Given the description of an element on the screen output the (x, y) to click on. 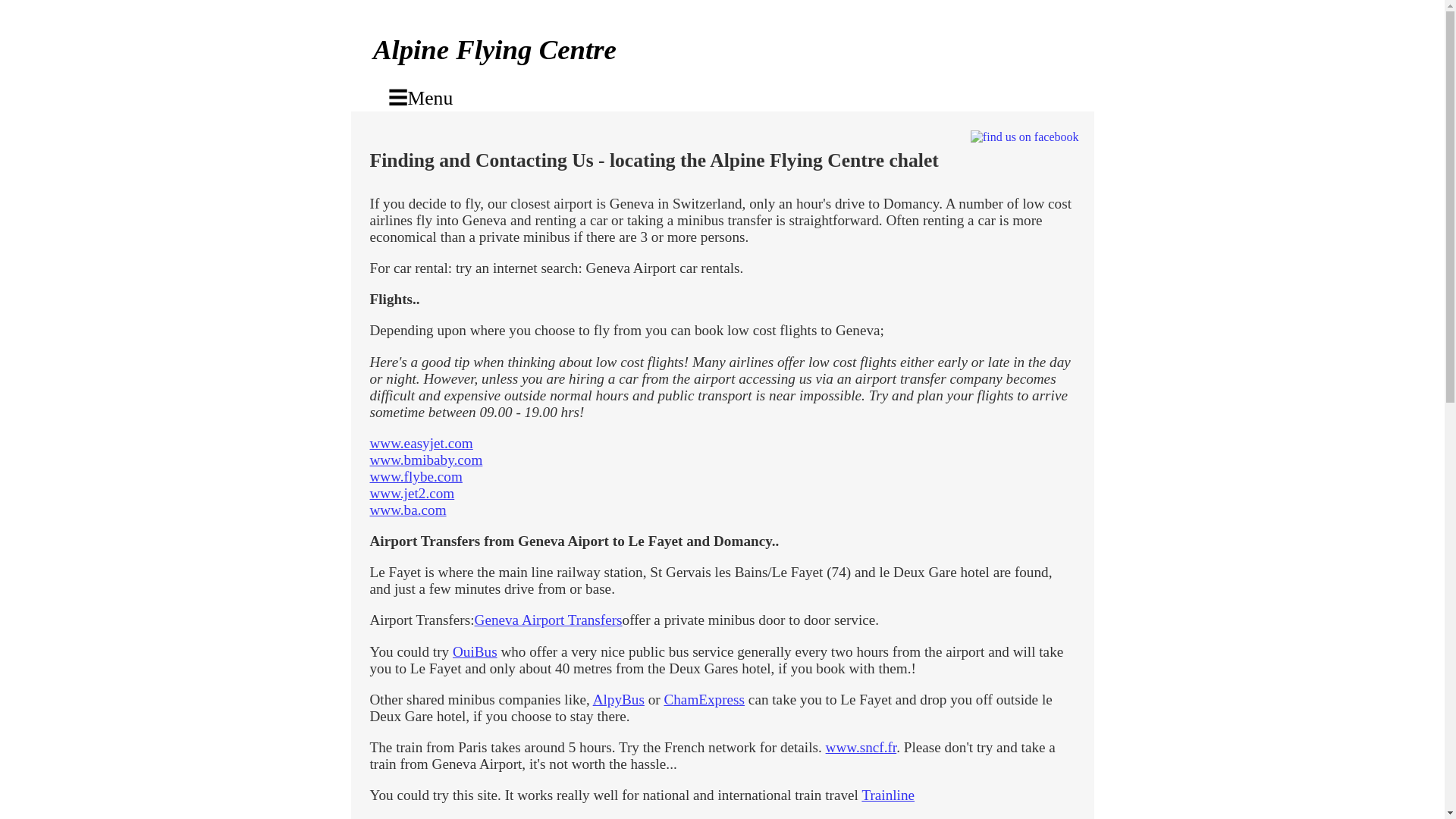
www.flybe.com (416, 476)
OuiBus (474, 651)
www.jet2.com (411, 493)
www.ba.com (407, 509)
www.easyjet.com (421, 442)
AlpyBus (618, 699)
www.bmibaby.com (426, 459)
Geneva Airport Transfers (548, 619)
